Given the description of an element on the screen output the (x, y) to click on. 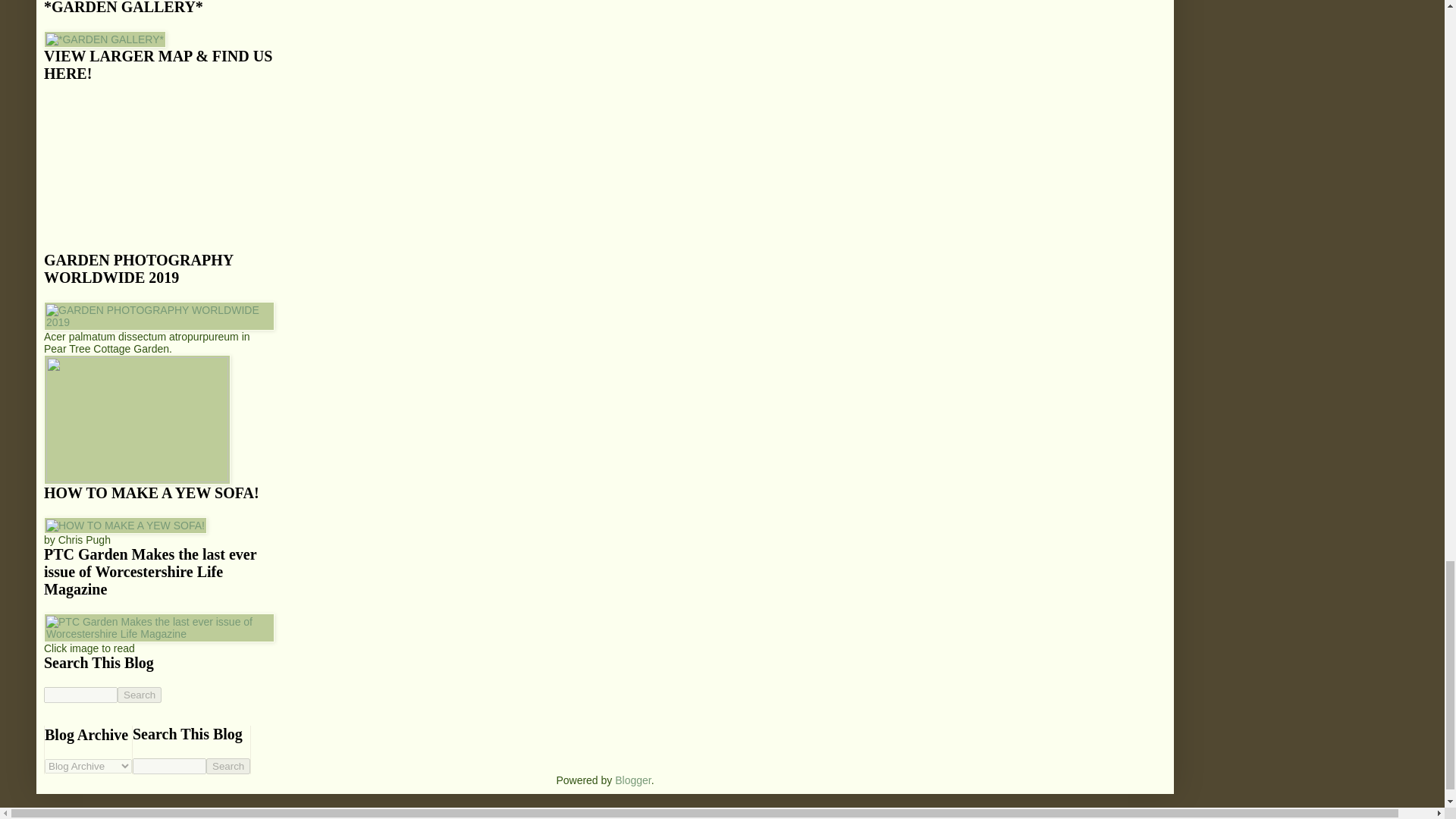
Search (139, 694)
Search (228, 765)
search (169, 765)
search (139, 694)
Search (139, 694)
search (228, 765)
Search (228, 765)
search (80, 694)
